Given the description of an element on the screen output the (x, y) to click on. 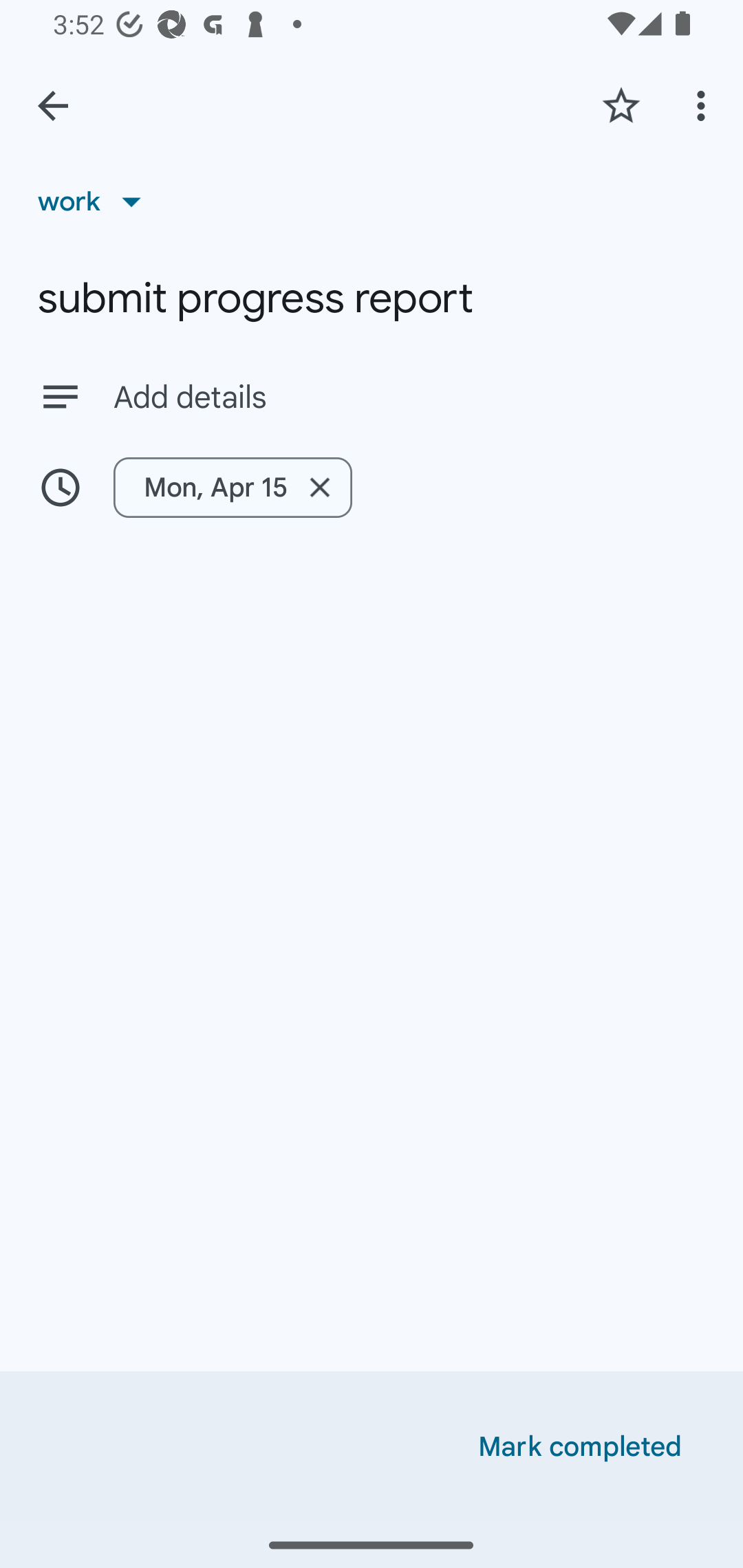
Back (53, 105)
Add star (620, 105)
More options (704, 105)
work List, work selected, 1 of 11 (95, 201)
submit progress report (371, 298)
Add details (371, 396)
Add details (409, 397)
Mon, Apr 15 Remove date/time (371, 487)
Mon, Apr 15 Remove date/time (232, 487)
Mark completed (580, 1446)
